Given the description of an element on the screen output the (x, y) to click on. 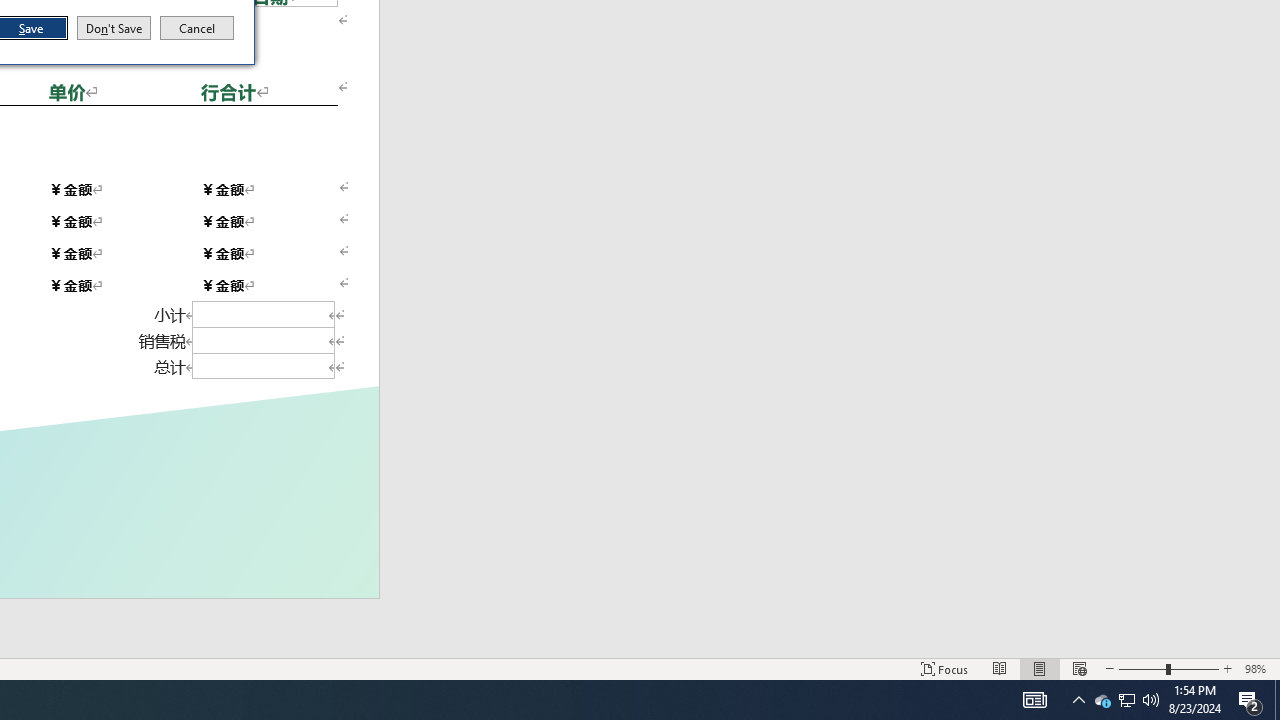
Cancel (197, 27)
